Given the description of an element on the screen output the (x, y) to click on. 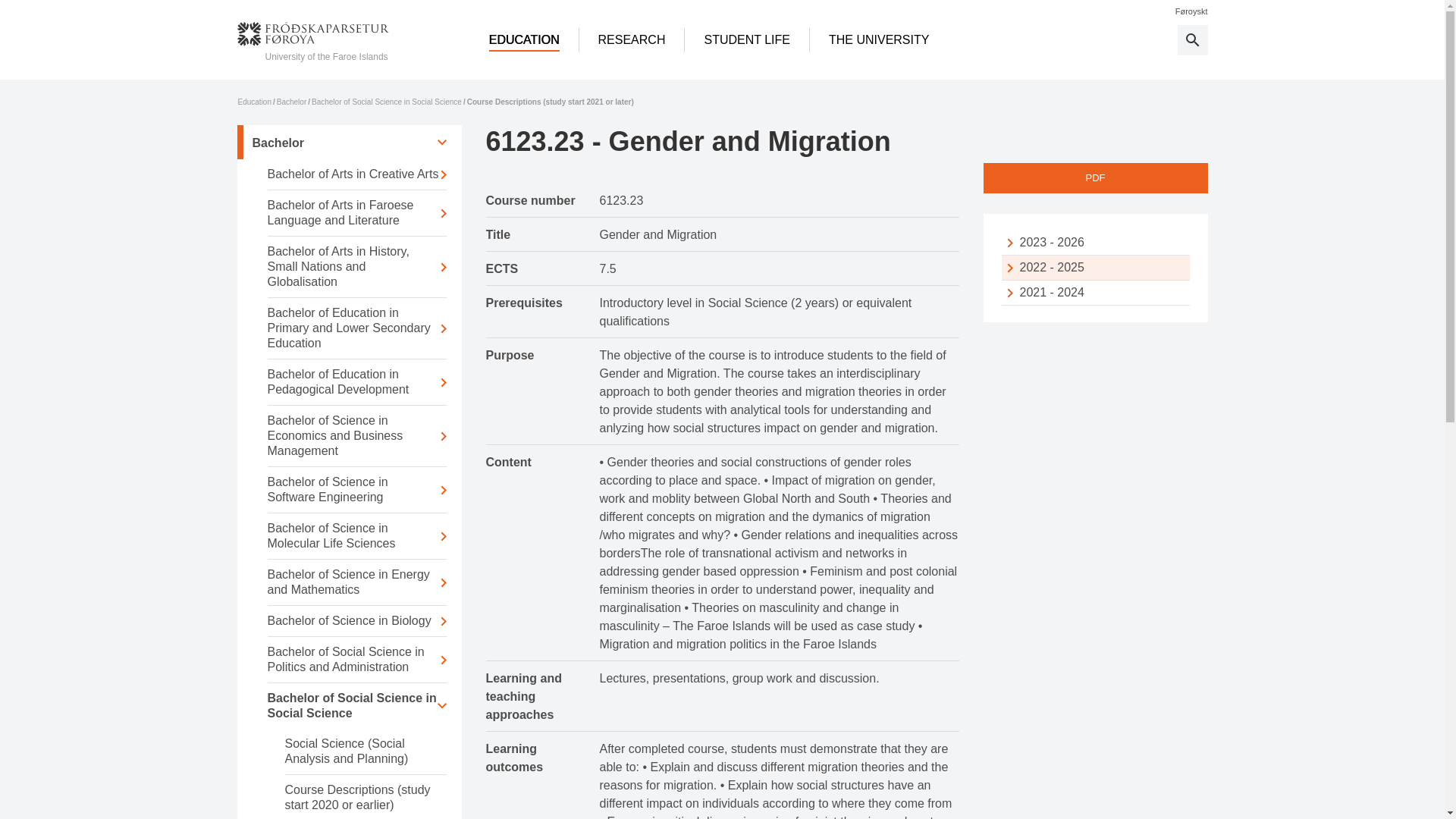
University of the Faroe Islands (311, 42)
EDUCATION (524, 39)
